Given the description of an element on the screen output the (x, y) to click on. 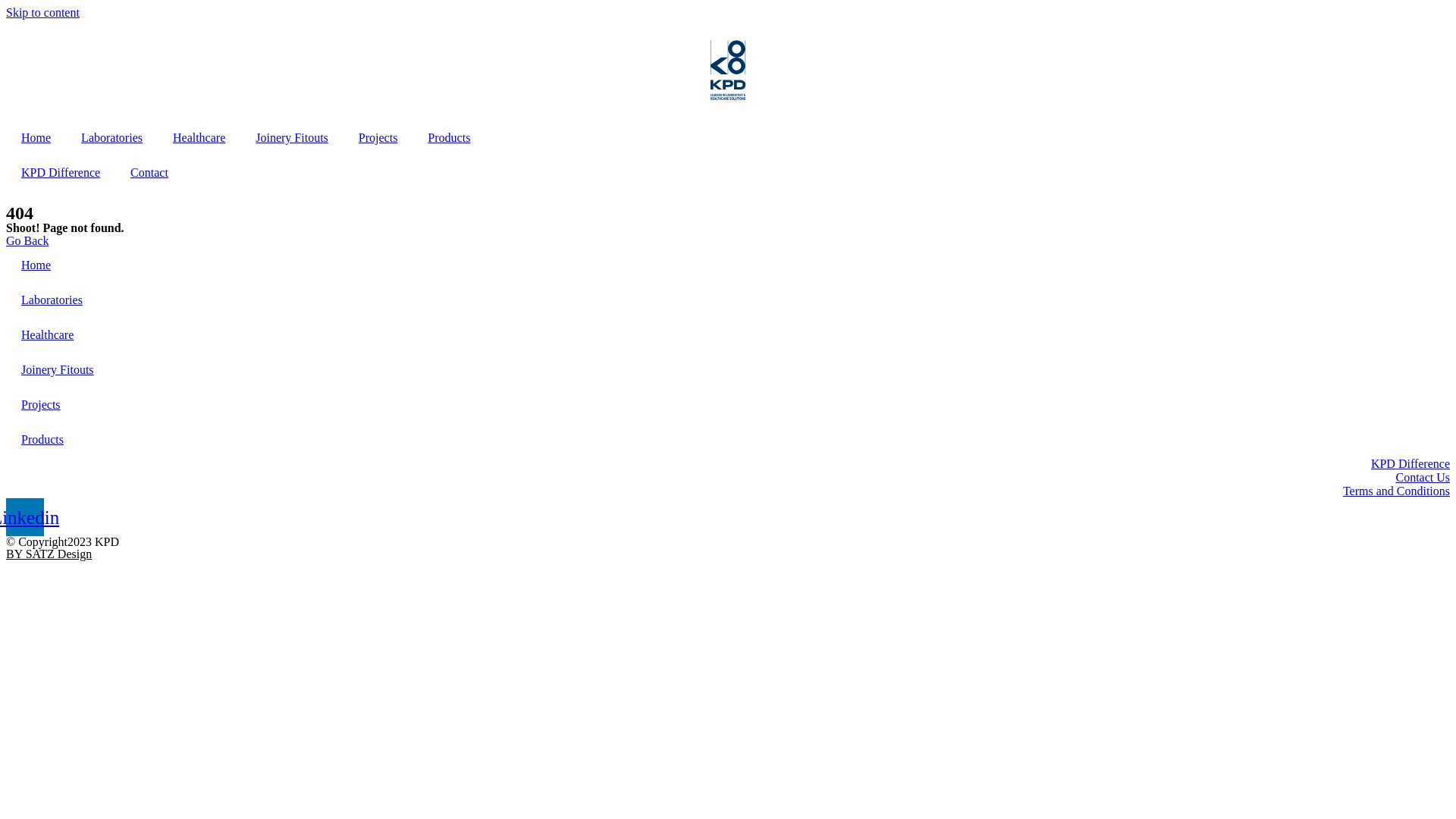
Healthcare Element type: text (198, 137)
Home Element type: text (35, 137)
Contact Element type: text (149, 172)
Laboratories Element type: text (727, 299)
Joinery Fitouts Element type: text (291, 137)
Terms and Conditions Element type: text (727, 491)
Home Element type: text (727, 264)
Go Back Element type: text (27, 240)
Linkedin Element type: text (24, 517)
KPD Difference Element type: text (727, 463)
Contact Us Element type: text (727, 477)
Skip to content Element type: text (42, 12)
Laboratories Element type: text (111, 137)
Healthcare Element type: text (727, 334)
KPD Difference Element type: text (60, 172)
Joinery Fitouts Element type: text (727, 369)
Projects Element type: text (727, 404)
Products Element type: text (727, 439)
Projects Element type: text (378, 137)
Products Element type: text (448, 137)
BY SATZ Design Element type: text (48, 553)
